Given the description of an element on the screen output the (x, y) to click on. 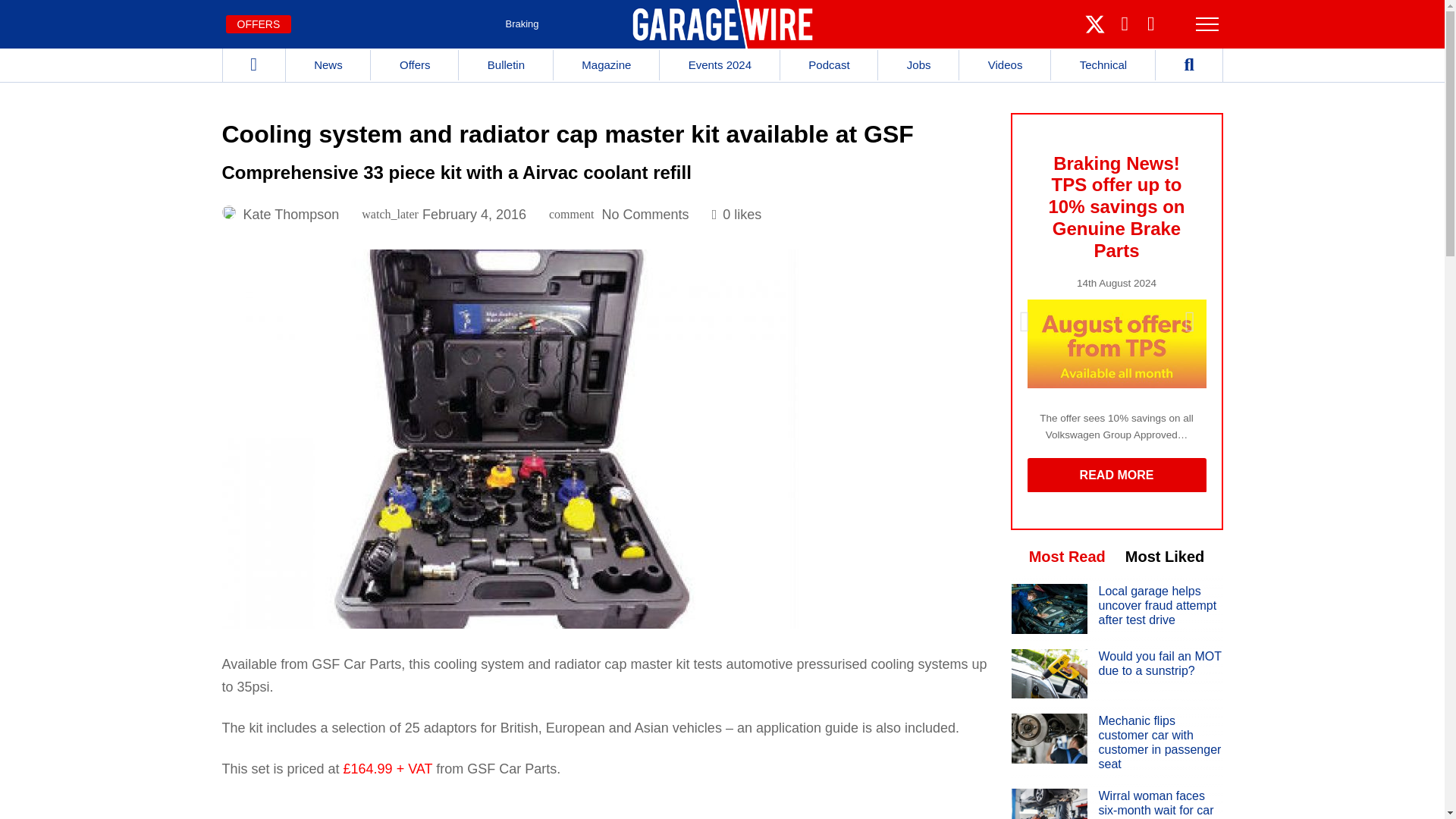
Videos (1005, 64)
No Comments (645, 214)
Events 2024 (719, 64)
Bulletin (505, 64)
Podcast (828, 64)
Garage Wire (722, 24)
Magazine (606, 64)
News (328, 64)
Kate Thompson (291, 214)
Technical (1103, 64)
